Given the description of an element on the screen output the (x, y) to click on. 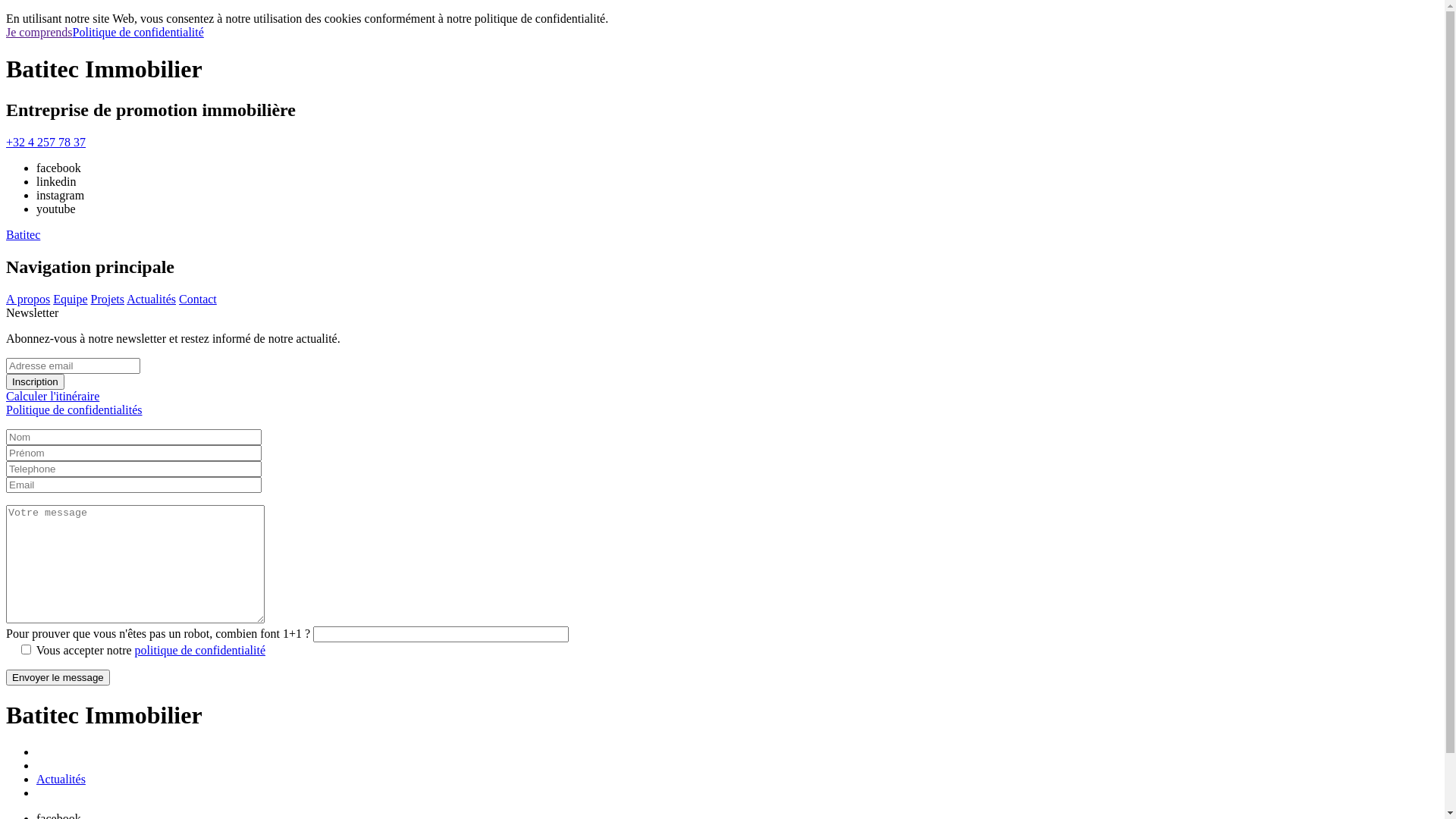
Je comprends Element type: text (39, 31)
Projets Element type: text (107, 298)
+32 4 257 78 37 Element type: text (45, 141)
A propos Element type: text (28, 298)
Contact Element type: text (197, 298)
Batitec Element type: text (23, 234)
Equipe Element type: text (70, 298)
Inscription Element type: text (35, 381)
Envoyer le message Element type: text (57, 677)
